Given the description of an element on the screen output the (x, y) to click on. 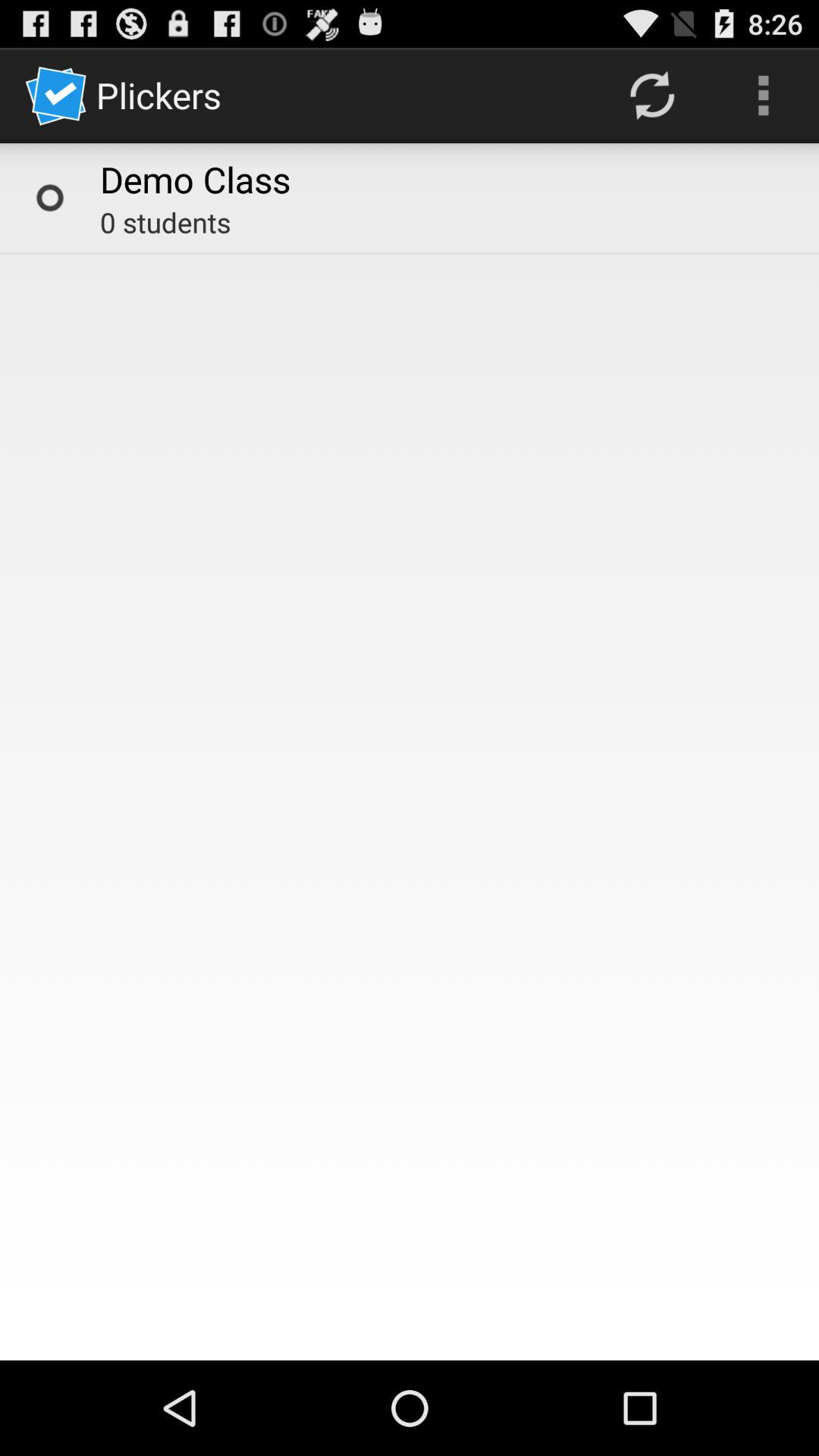
select the demo class item (195, 179)
